Given the description of an element on the screen output the (x, y) to click on. 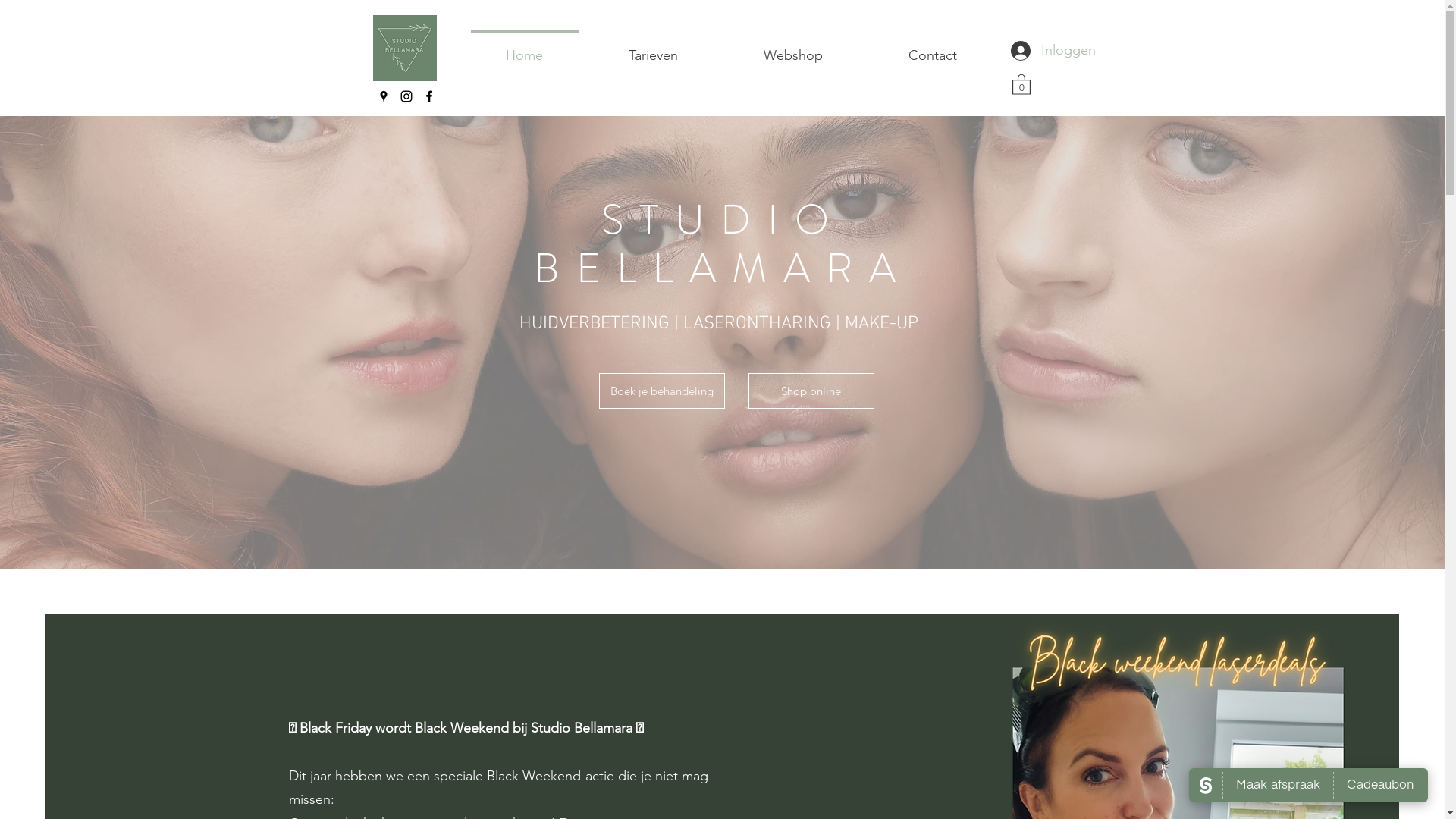
Shop online Element type: text (810, 390)
Contact Element type: text (933, 48)
Home Element type: text (523, 48)
Tarieven Element type: text (652, 48)
Inloggen Element type: text (1030, 50)
Boek je behandeling Element type: text (661, 390)
Webshop Element type: text (792, 48)
0 Element type: text (1020, 83)
